Given the description of an element on the screen output the (x, y) to click on. 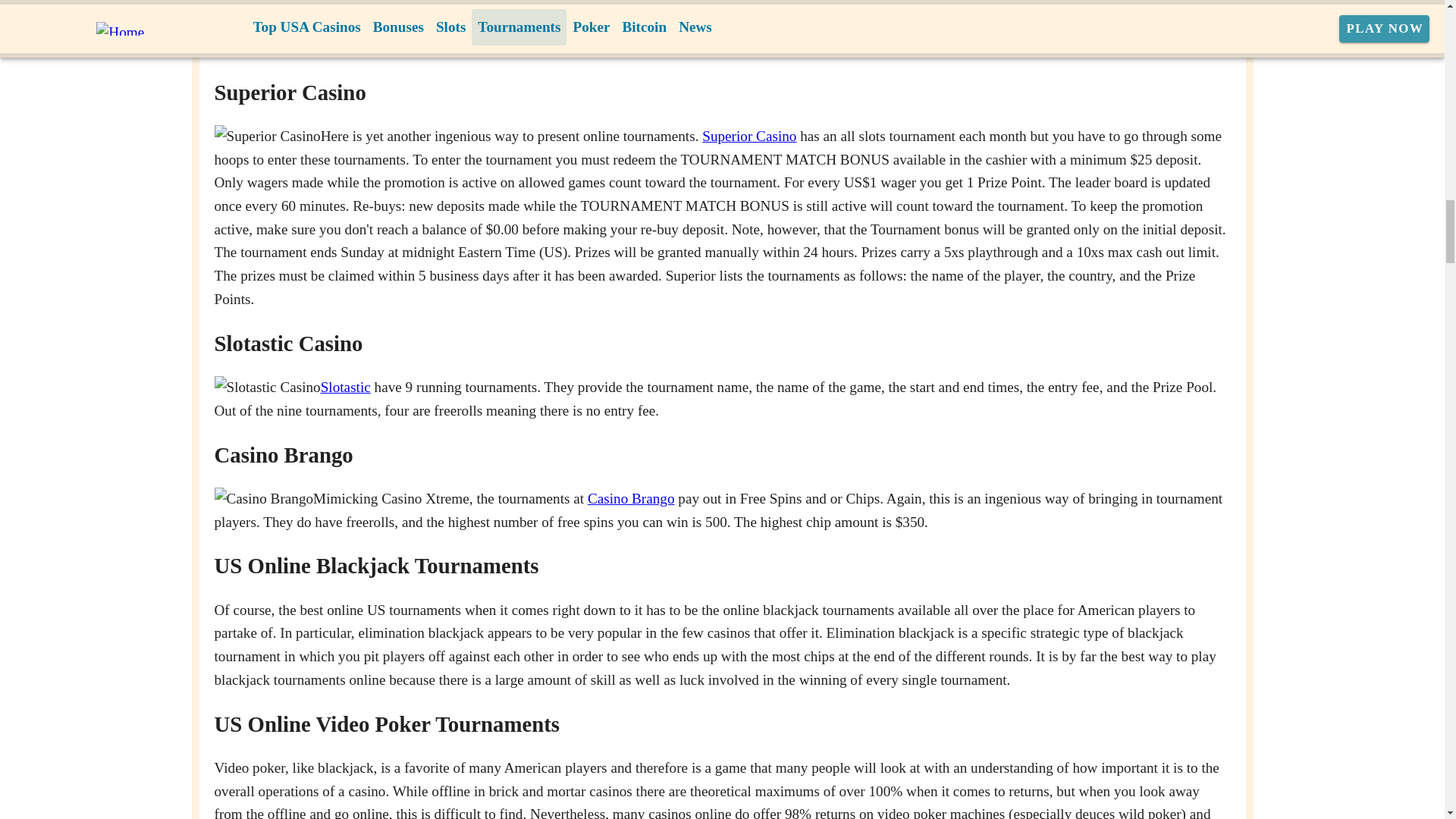
Superior Casino (748, 135)
Extreme (758, 4)
Slotastic (345, 386)
Casino Brango (631, 498)
